Given the description of an element on the screen output the (x, y) to click on. 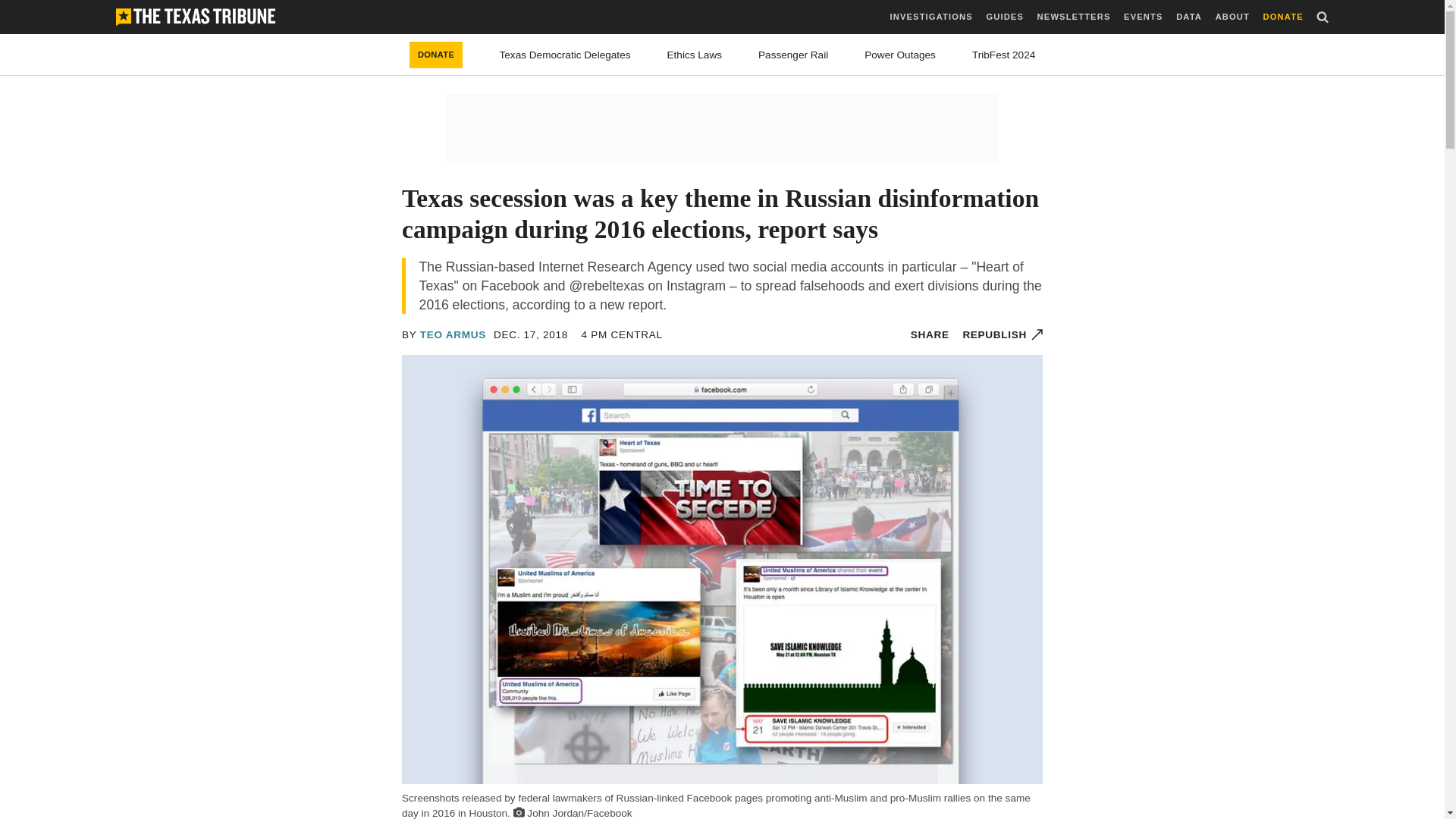
Texas Democratic Delegates (564, 54)
DONATE (436, 54)
Power Outages (900, 54)
REPUBLISH (1002, 334)
2018-12-17 16:42 CST (621, 334)
EVENTS (1142, 17)
Passenger Rail (793, 54)
TribFest 2024 (1003, 54)
2018-12-17 16:42 CST (530, 334)
INVESTIGATIONS (930, 17)
DONATE (1283, 17)
Ethics Laws (694, 54)
TEO ARMUS (453, 334)
ABOUT (1232, 17)
GUIDES (1004, 17)
